Given the description of an element on the screen output the (x, y) to click on. 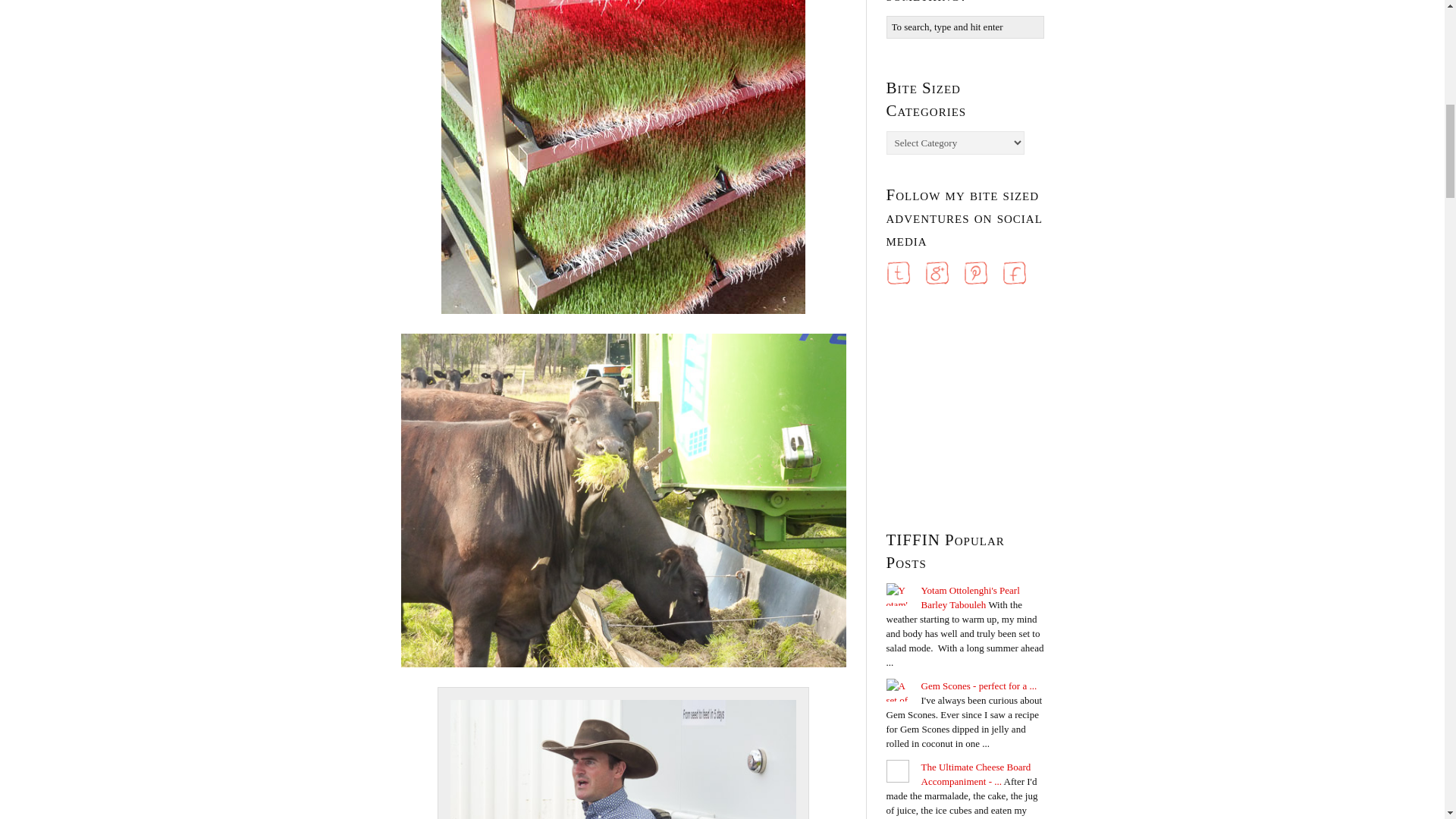
To search, type and hit enter (964, 26)
